Given the description of an element on the screen output the (x, y) to click on. 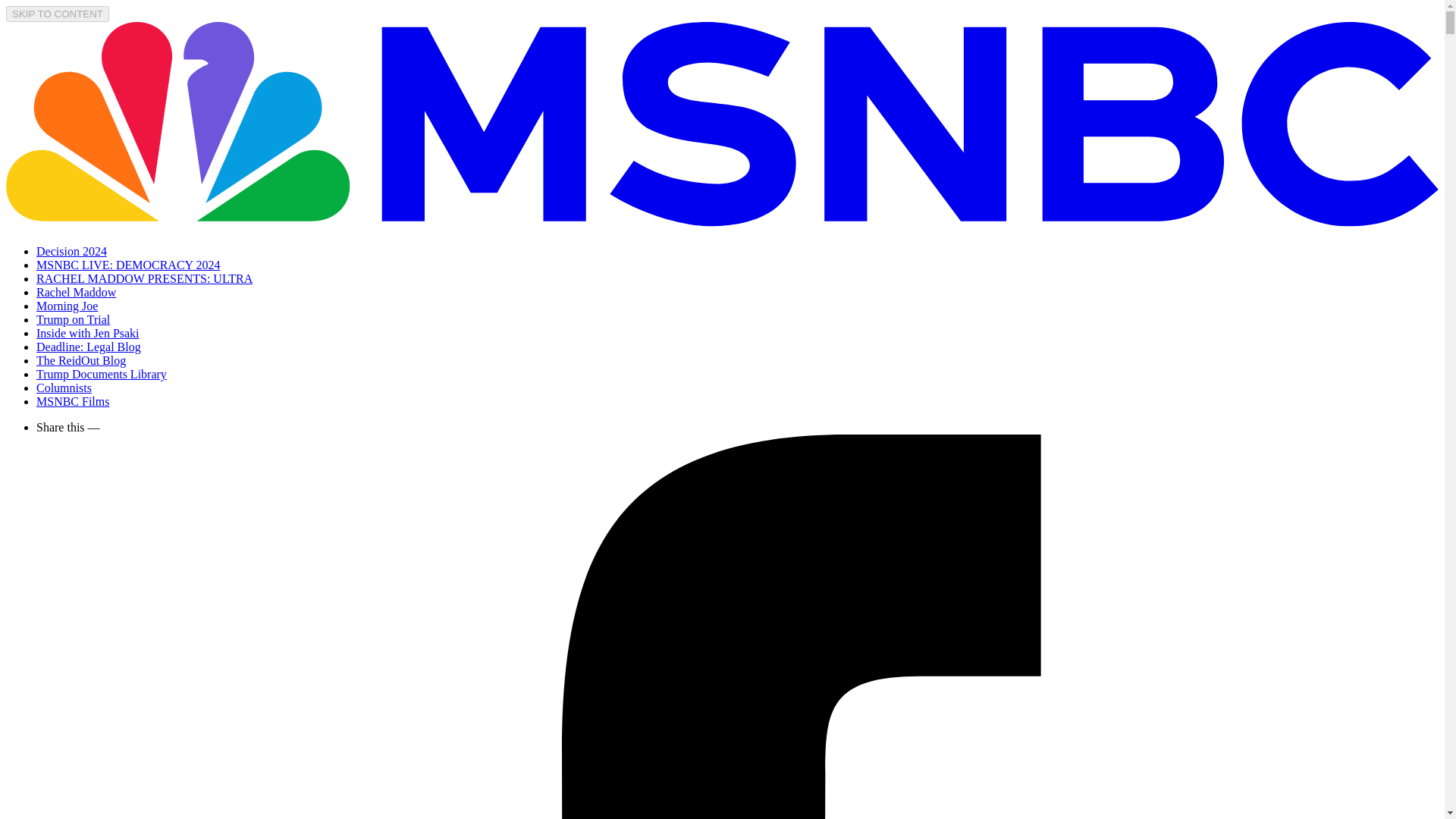
MSNBC LIVE: DEMOCRACY 2024 (128, 264)
Inside with Jen Psaki (87, 332)
SKIP TO CONTENT (57, 13)
Trump Documents Library (101, 373)
Decision 2024 (71, 250)
RACHEL MADDOW PRESENTS: ULTRA (143, 278)
Columnists (63, 387)
The ReidOut Blog (80, 359)
Rachel Maddow (76, 291)
MSNBC Films (72, 400)
